Given the description of an element on the screen output the (x, y) to click on. 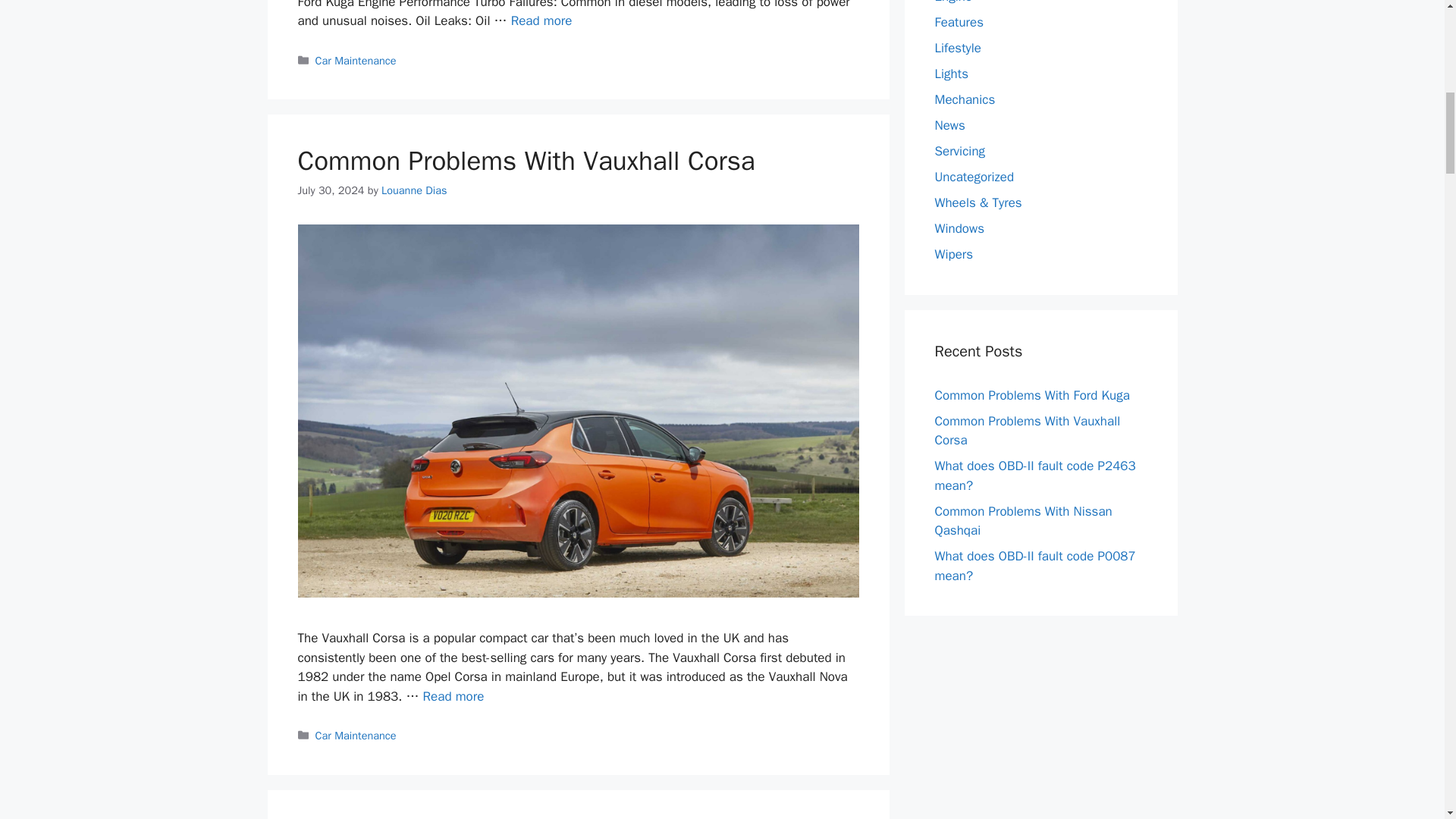
Common Problems With Ford Kuga (541, 20)
Common Problems With Vauxhall Corsa (453, 696)
View all posts by Louanne Dias (413, 190)
